Given the description of an element on the screen output the (x, y) to click on. 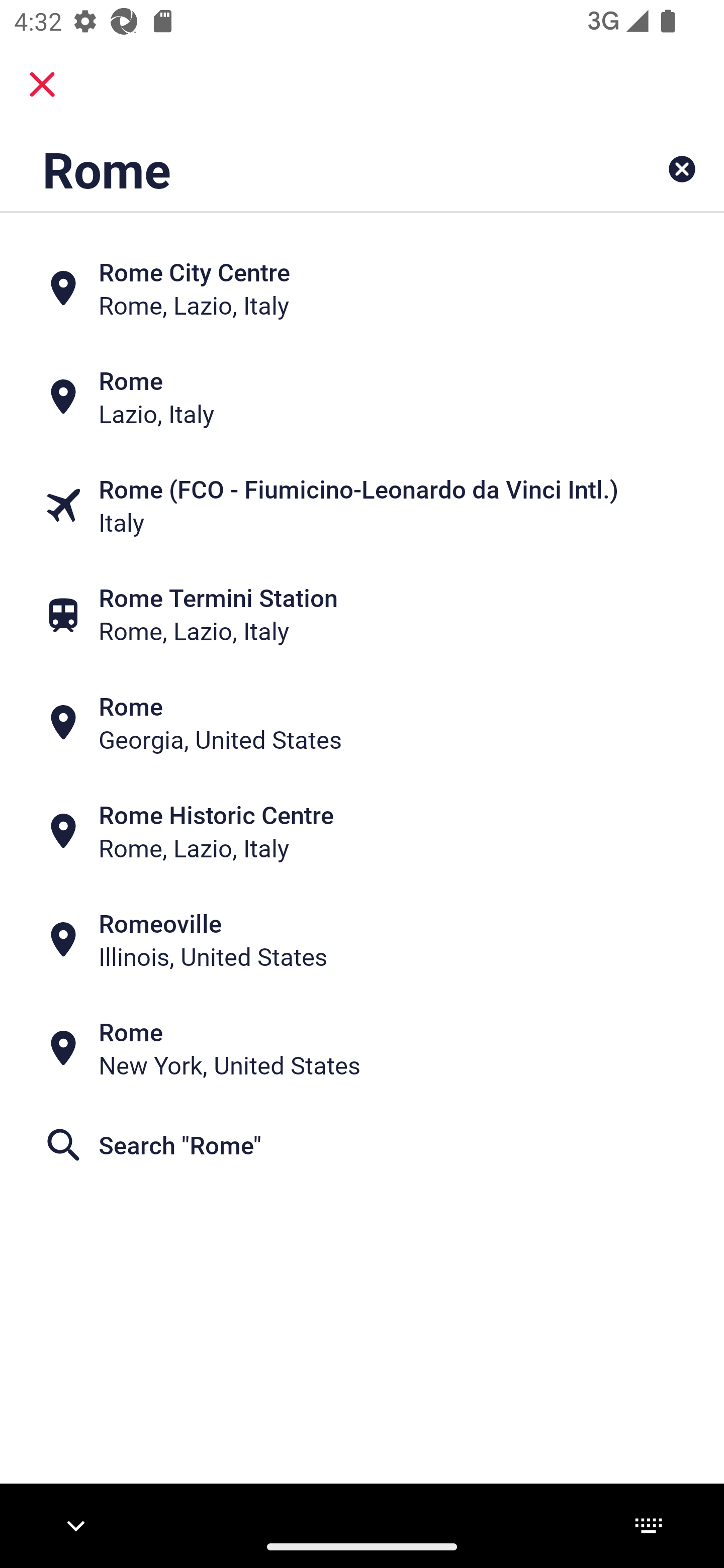
close. (42, 84)
Clear (681, 169)
Rome (298, 169)
Rome City Centre Rome, Lazio, Italy (362, 288)
Rome Lazio, Italy (362, 397)
Rome Termini Station Rome, Lazio, Italy (362, 613)
Rome Georgia, United States (362, 722)
Rome Historic Centre Rome, Lazio, Italy (362, 831)
Romeoville Illinois, United States (362, 939)
Rome New York, United States (362, 1048)
Search "Rome" (362, 1144)
